Given the description of an element on the screen output the (x, y) to click on. 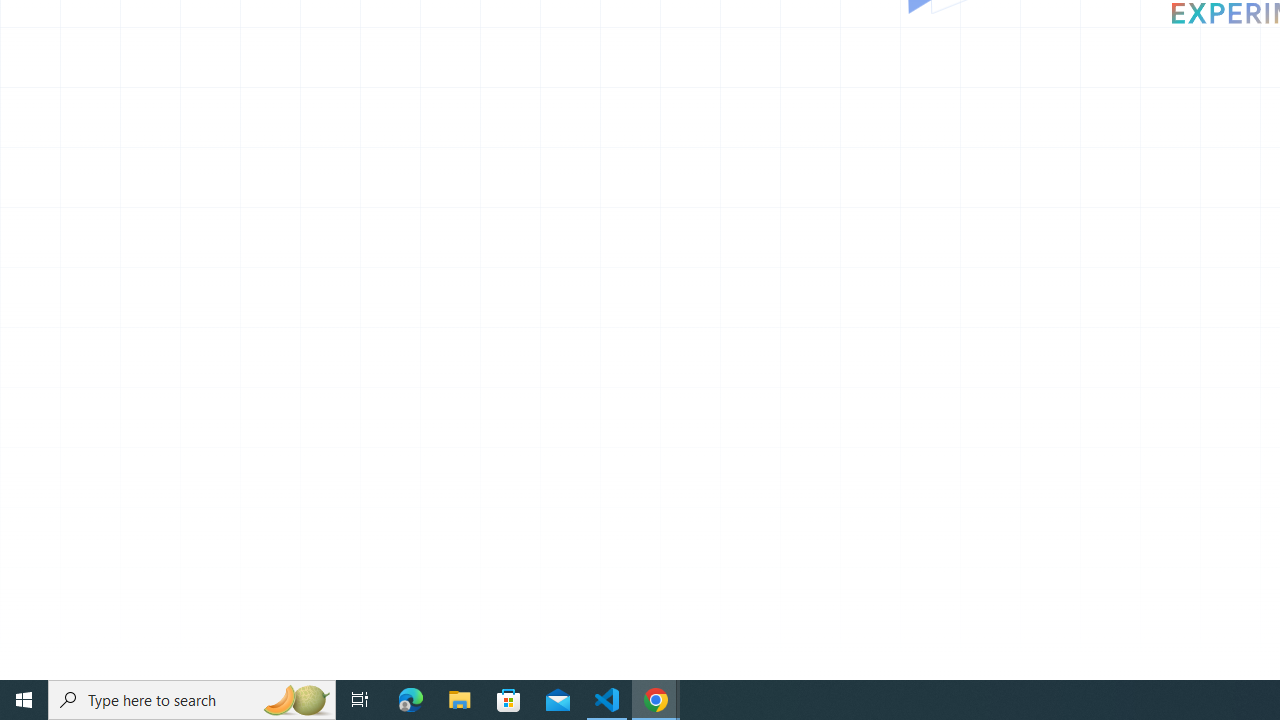
Task View (359, 699)
Search highlights icon opens search home window (295, 699)
Visual Studio Code - 1 running window (607, 699)
File Explorer (460, 699)
Type here to search (191, 699)
Google Chrome - 2 running windows (656, 699)
Microsoft Store (509, 699)
Microsoft Edge (411, 699)
Start (24, 699)
